Given the description of an element on the screen output the (x, y) to click on. 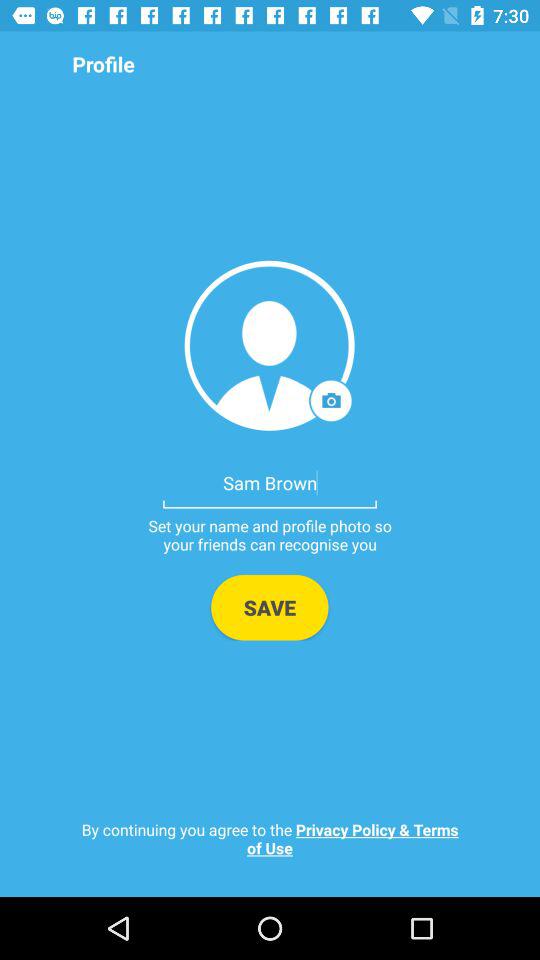
choose the sam brown (269, 482)
